Given the description of an element on the screen output the (x, y) to click on. 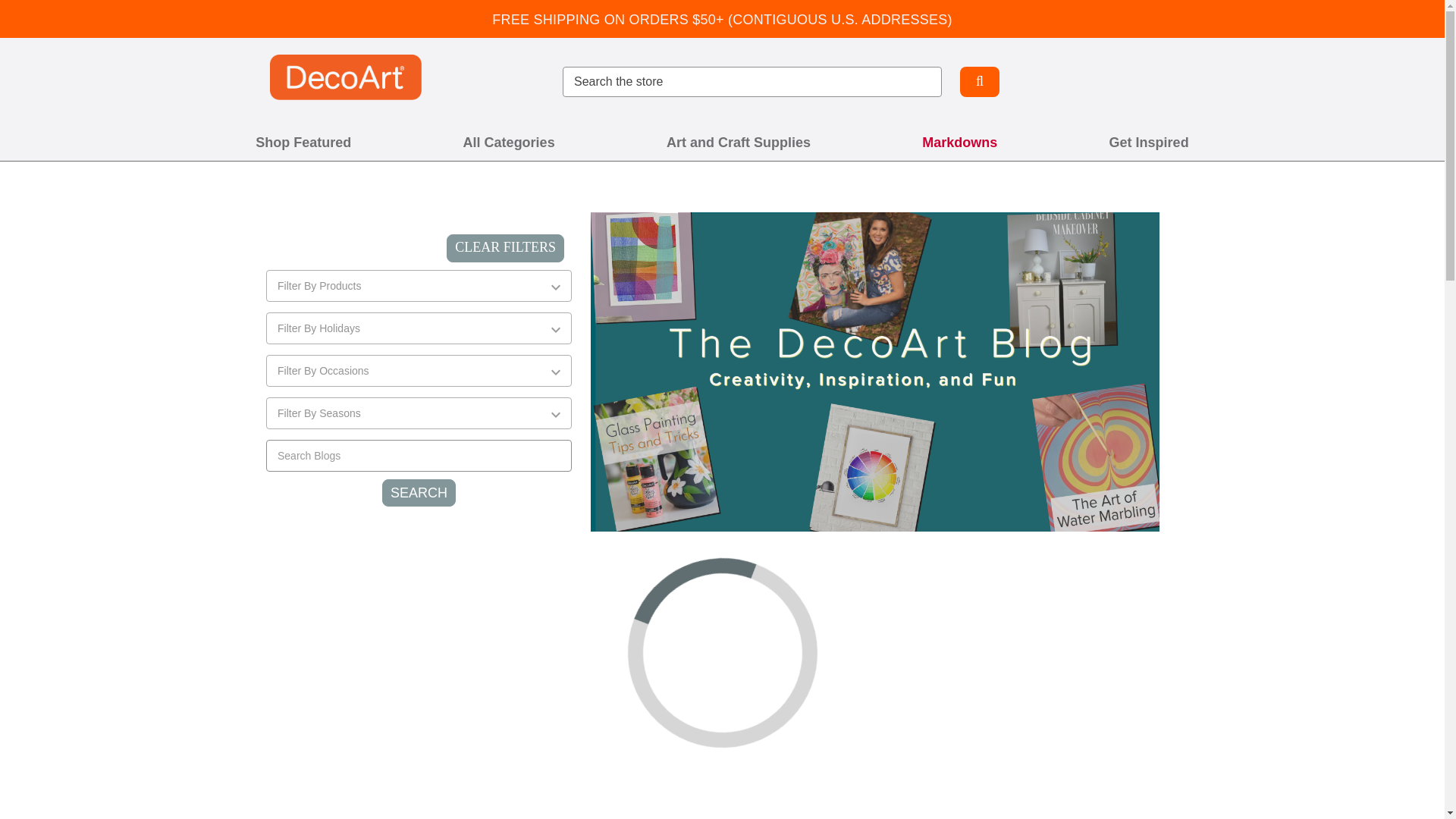
Shop Featured (302, 143)
Shop Featured (302, 142)
DecoArt Acrylic Paint and Art Supplies (345, 76)
